Given the description of an element on the screen output the (x, y) to click on. 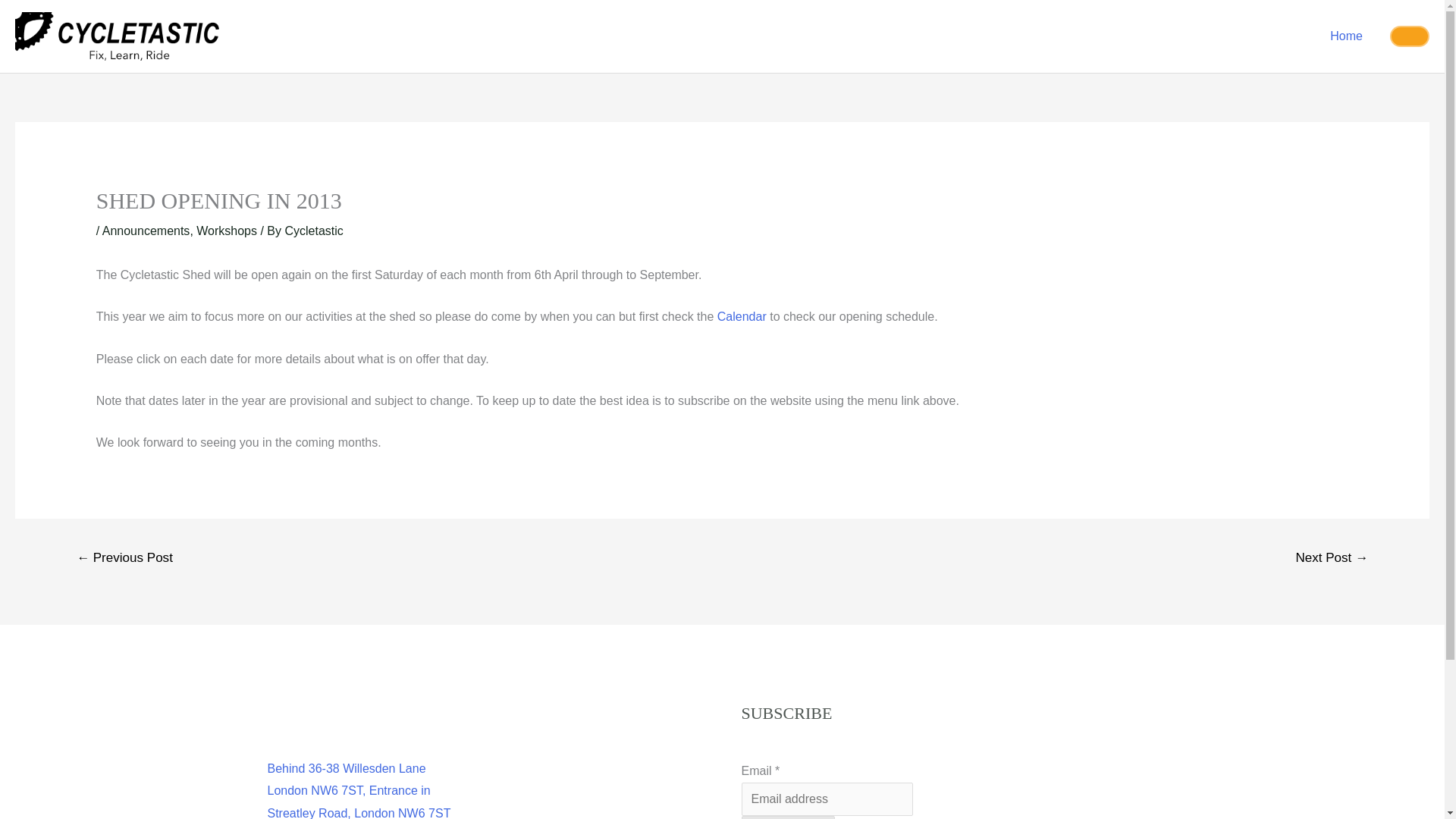
Workshops (226, 230)
Home (1345, 36)
Subscribe (787, 817)
Cycletastic (312, 230)
View all posts by Cycletastic (312, 230)
Event Calendar (742, 316)
Calendar (742, 316)
Announcements (145, 230)
